Given the description of an element on the screen output the (x, y) to click on. 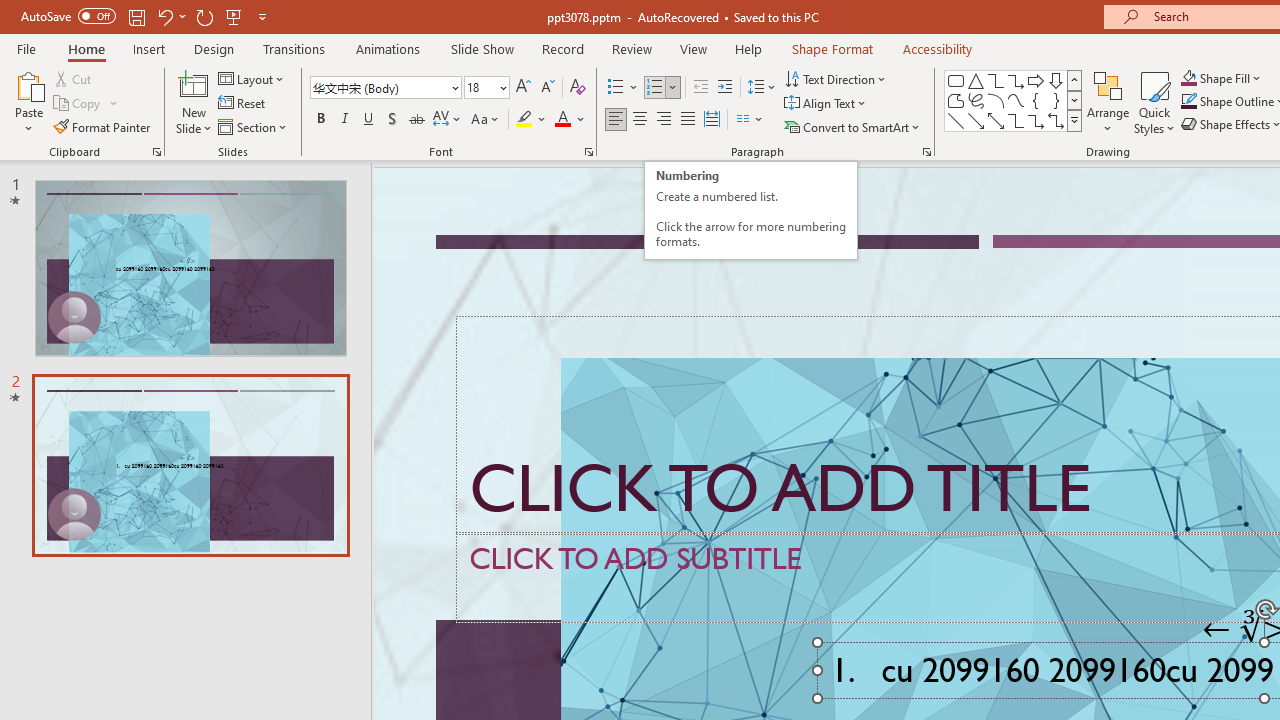
Font... (588, 151)
Row up (1074, 79)
Font Color (569, 119)
Shapes (1074, 120)
Section (254, 126)
Character Spacing (447, 119)
Italic (344, 119)
Shadow (392, 119)
Freeform: Shape (955, 100)
Columns (750, 119)
Text Highlight Color Yellow (524, 119)
Line Arrow: Double (995, 120)
Text Direction (836, 78)
